Given the description of an element on the screen output the (x, y) to click on. 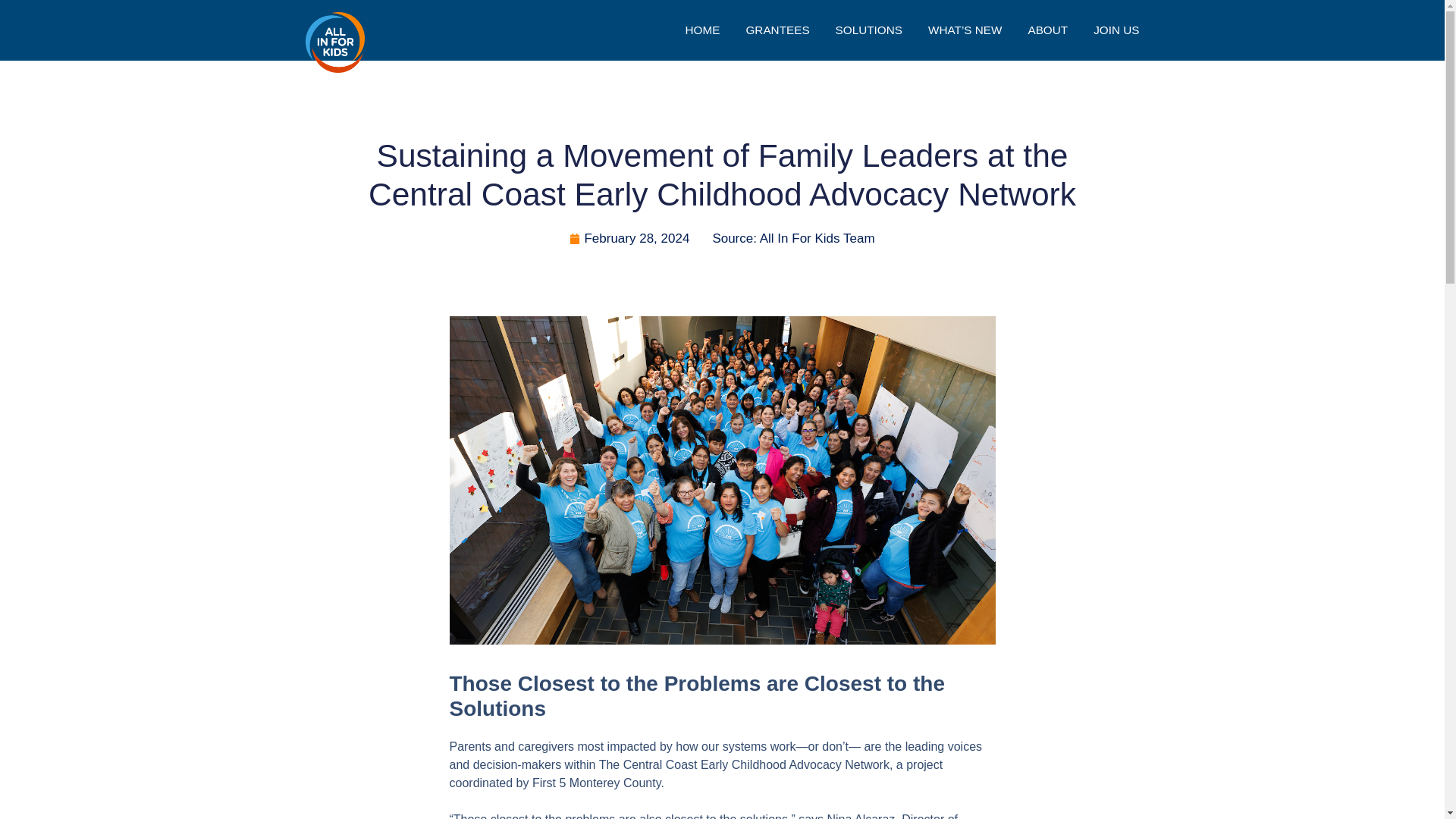
HOME (702, 30)
ABOUT (1047, 30)
SOLUTIONS (868, 30)
JOIN US (1115, 30)
GRANTEES (777, 30)
February 28, 2024 (628, 238)
